Given the description of an element on the screen output the (x, y) to click on. 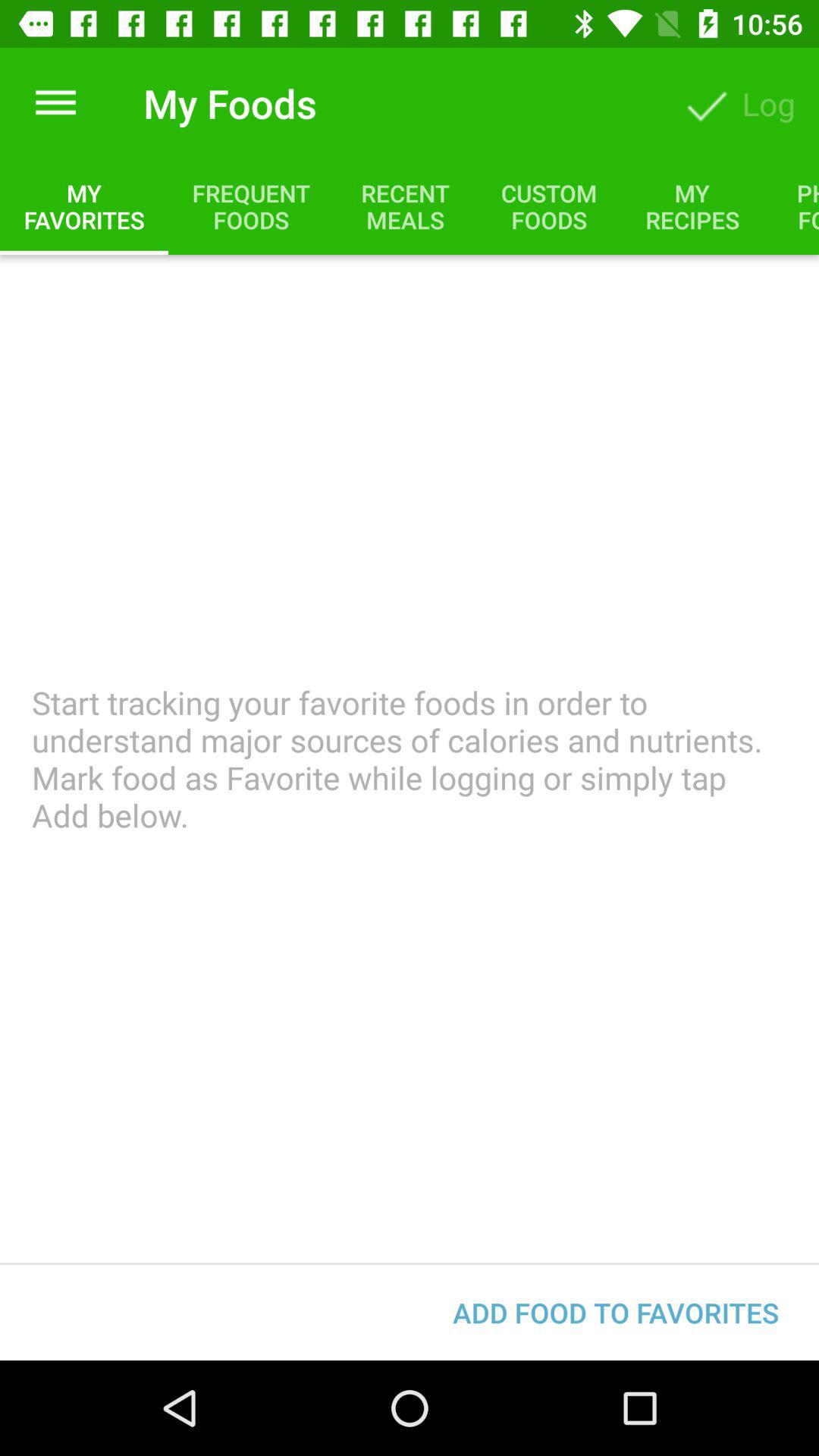
click the button below the text (616, 1312)
click on the button beside log (706, 103)
